Given the description of an element on the screen output the (x, y) to click on. 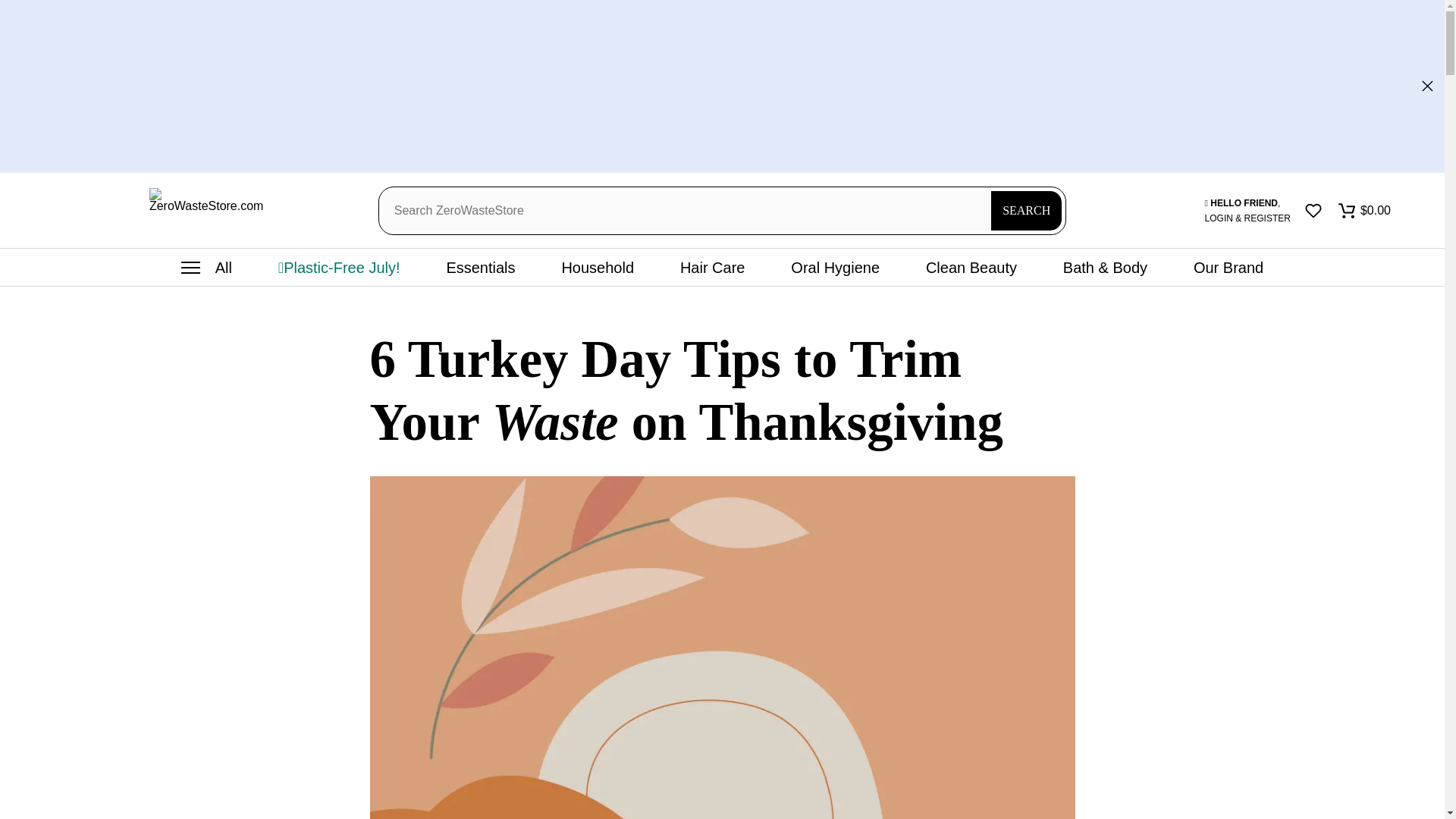
Household (597, 267)
Hair Care (712, 267)
All (205, 267)
Skip to content (10, 7)
Essentials (480, 267)
Clean Beauty (971, 267)
Oral Hygiene (834, 267)
SEARCH (1026, 210)
Plastic-Free July! (338, 267)
Our Brand (1228, 267)
close (1427, 85)
